Given the description of an element on the screen output the (x, y) to click on. 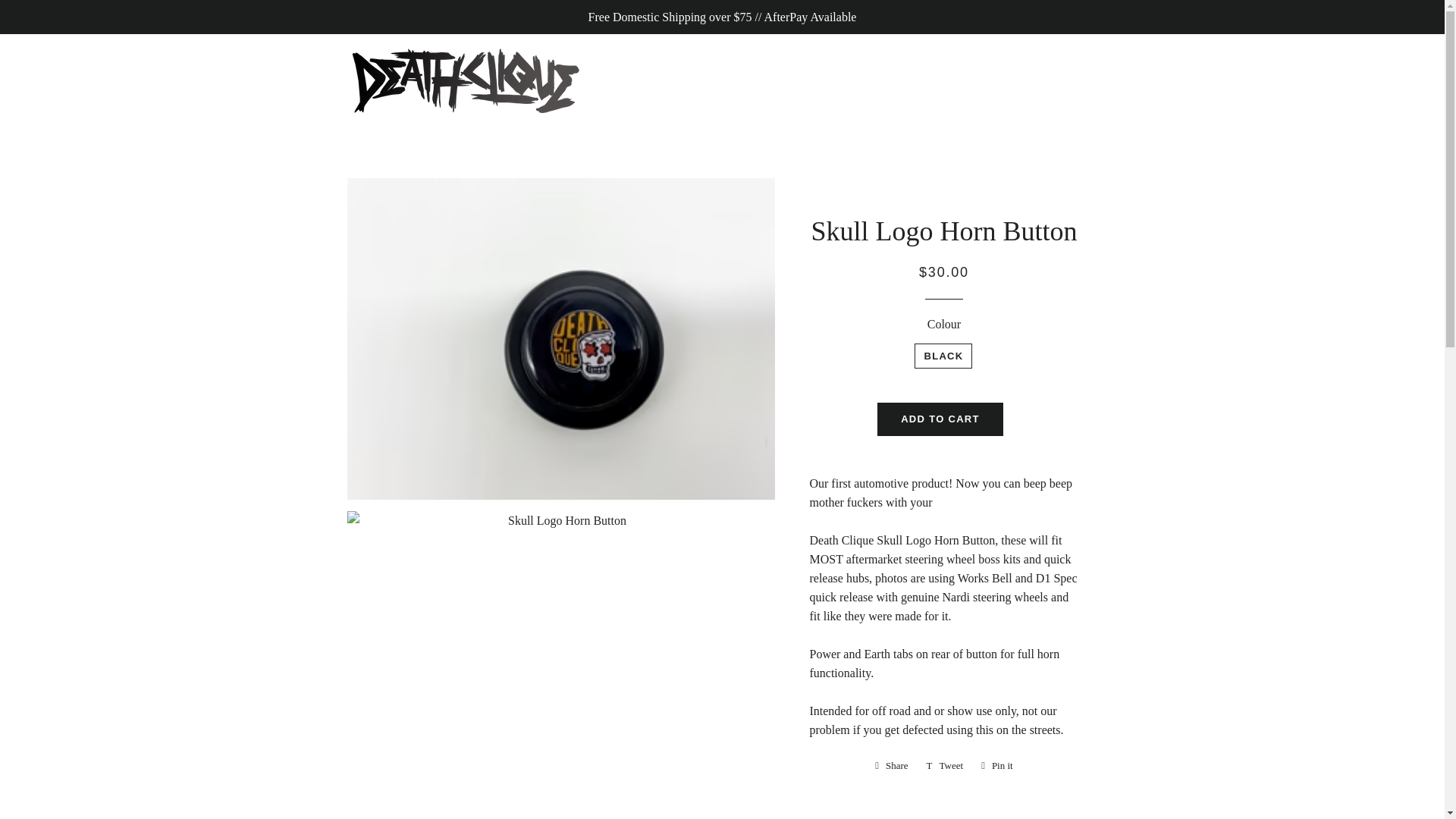
Share on Facebook (891, 765)
Pin on Pinterest (997, 765)
Tweet on Twitter (944, 765)
